Given the description of an element on the screen output the (x, y) to click on. 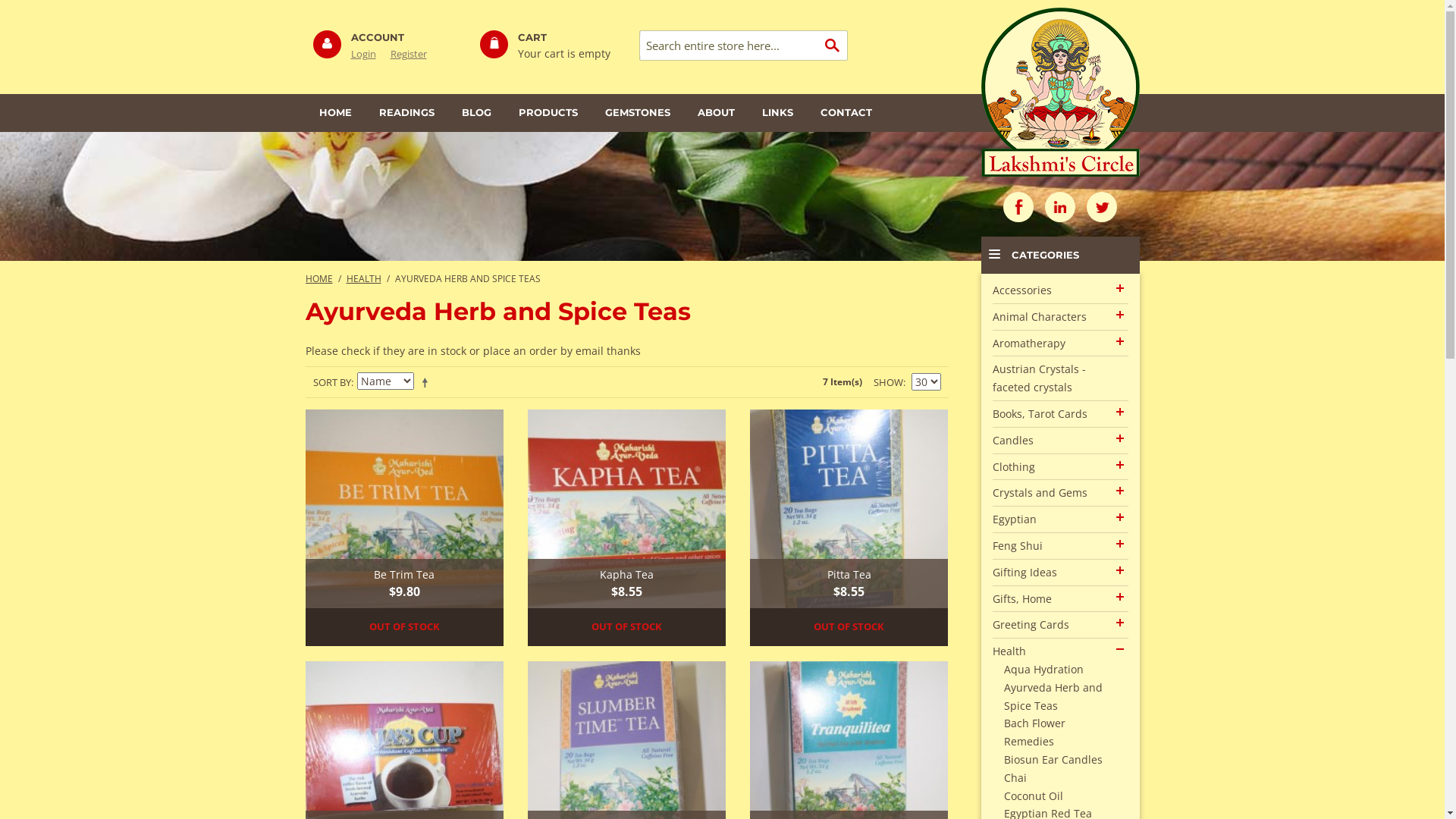
Pitta Tea
$8.55 Element type: text (848, 508)
Accessories Element type: text (1021, 289)
Bach Flower Remedies Element type: text (1034, 731)
Austrian Crystals - faceted crystals Element type: text (1038, 377)
Gifting Ideas Element type: text (1023, 571)
CART
Your cart is empty Element type: text (554, 46)
Register Element type: text (413, 53)
Kapha Tea
$8.55 Element type: text (626, 508)
PRODUCTS Element type: text (548, 112)
BLOG Element type: text (475, 112)
Health Element type: text (1008, 650)
Facebook Element type: text (1018, 206)
CONTACT Element type: text (845, 112)
Animal Characters Element type: text (1038, 316)
READINGS Element type: text (406, 112)
GEMSTONES Element type: text (637, 112)
Candles Element type: text (1011, 440)
Set Descending Direction Element type: text (426, 381)
Crystals and Gems Element type: text (1038, 492)
Feng Shui Element type: text (1016, 545)
Coconut Oil Element type: text (1033, 795)
HOME Element type: text (334, 112)
Aromatherapy Element type: text (1027, 342)
Egyptian Element type: text (1013, 518)
Chai Element type: text (1015, 777)
Gifts, Home Element type: text (1021, 598)
HEALTH Element type: text (362, 278)
HOME Element type: text (318, 278)
LinkedIn Element type: text (1059, 206)
Aqua Hydration Element type: text (1043, 669)
Twitter Element type: text (1101, 206)
Be Trim Tea
$9.80 Element type: text (403, 508)
Clothing Element type: text (1012, 466)
Greeting Cards Element type: text (1029, 624)
Login Element type: text (368, 53)
Books, Tarot Cards Element type: text (1038, 413)
Biosun Ear Candles Element type: text (1053, 759)
LINKS Element type: text (776, 112)
Search Element type: hover (832, 45)
ABOUT Element type: text (716, 112)
Ayurveda Herb and Spice Teas Element type: text (1053, 696)
